Given the description of an element on the screen output the (x, y) to click on. 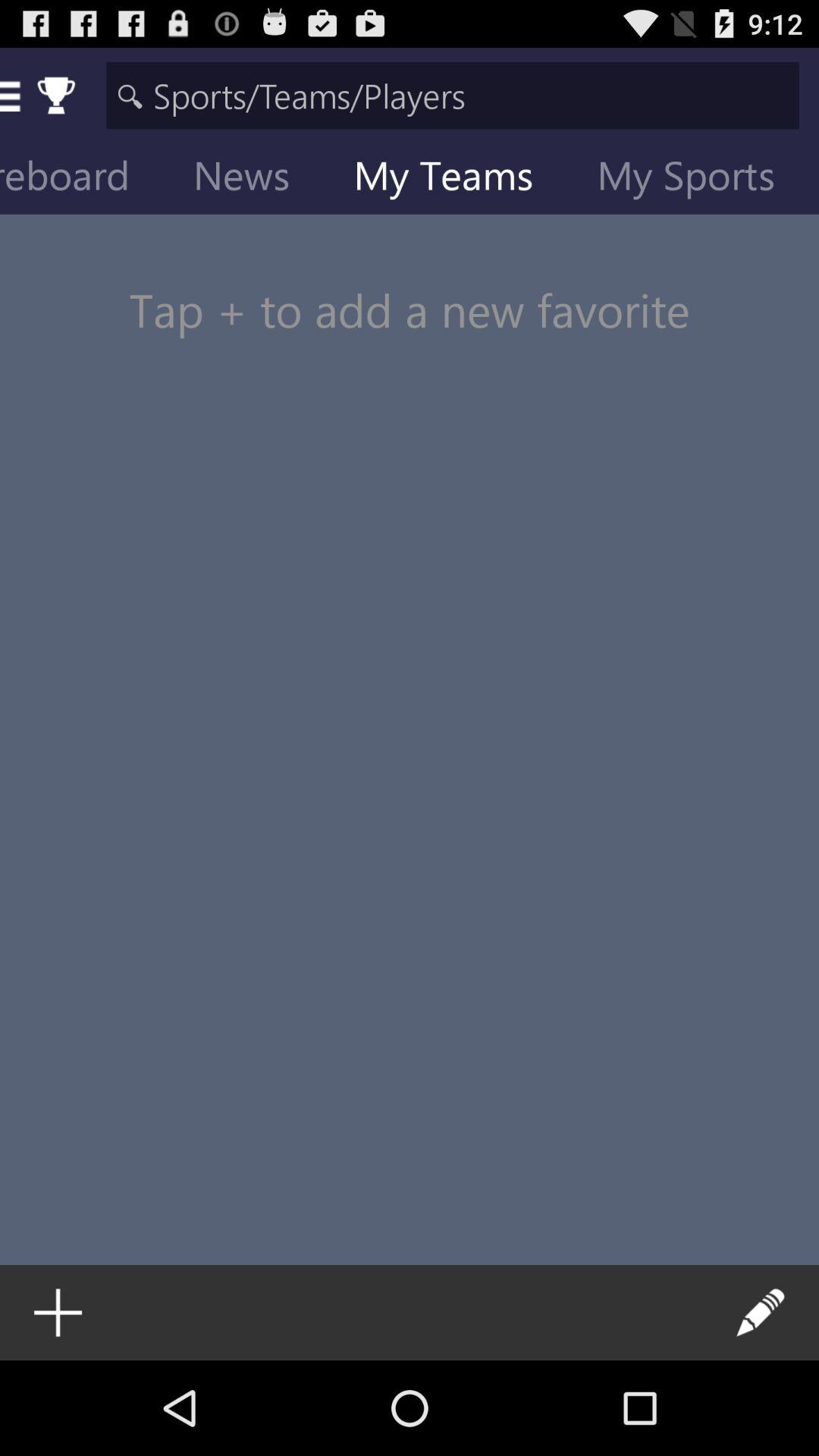
swipe until tap to add icon (409, 280)
